Given the description of an element on the screen output the (x, y) to click on. 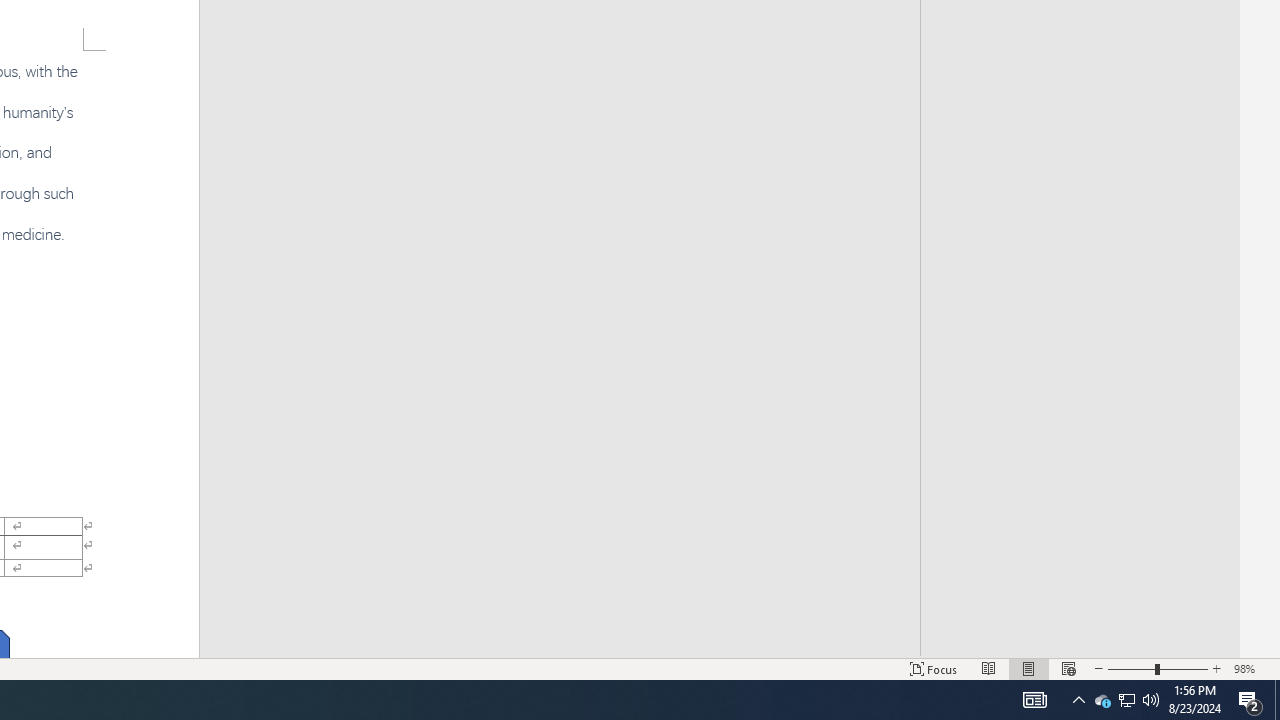
Zoom (1158, 668)
